Given the description of an element on the screen output the (x, y) to click on. 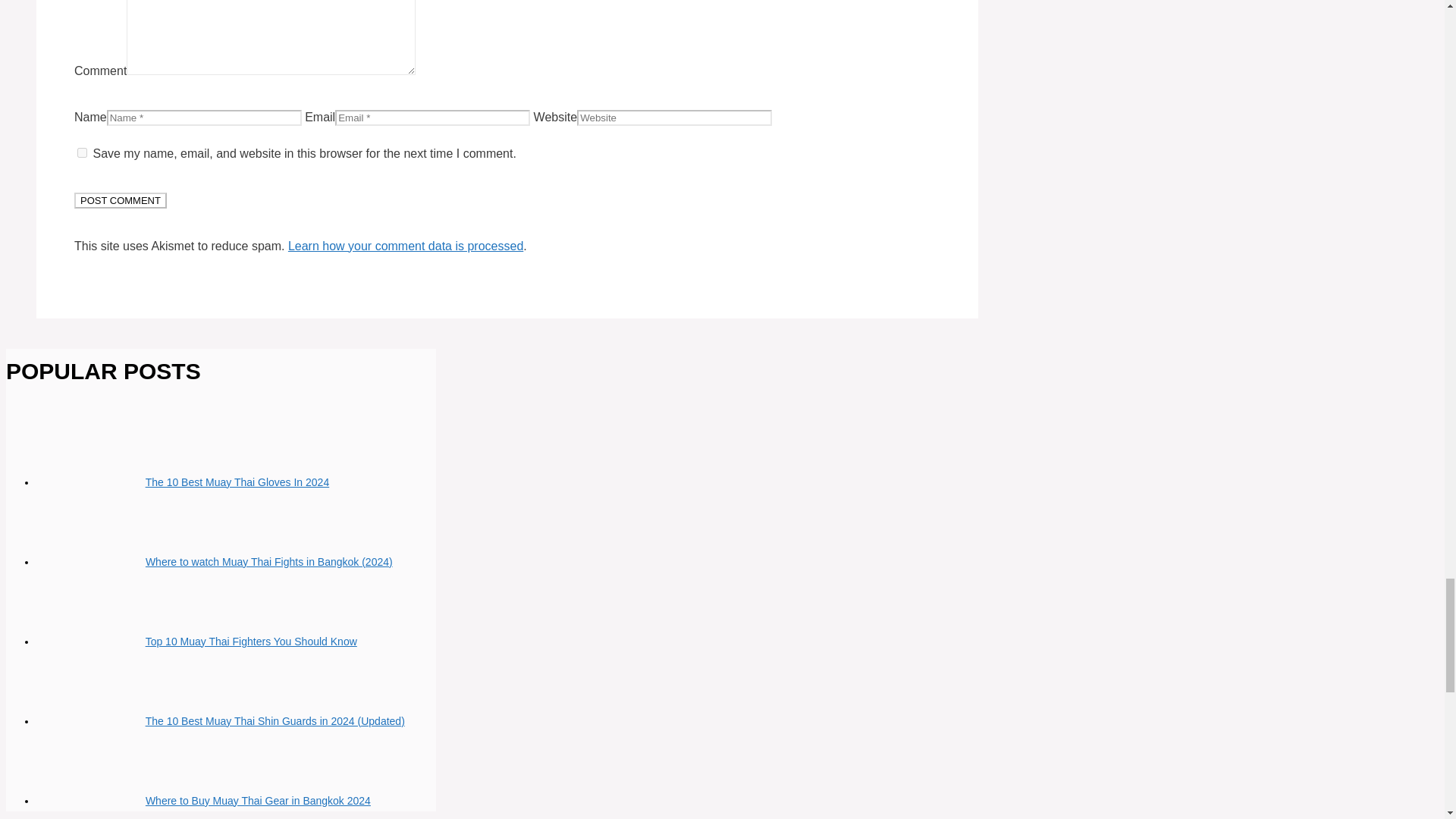
The 10 Best Muay Thai Gloves In 2024 (237, 481)
Post Comment (120, 200)
yes (82, 153)
Post Comment (120, 200)
Learn how your comment data is processed (405, 245)
Top 10 Muay Thai Fighters You Should Know (250, 641)
